Given the description of an element on the screen output the (x, y) to click on. 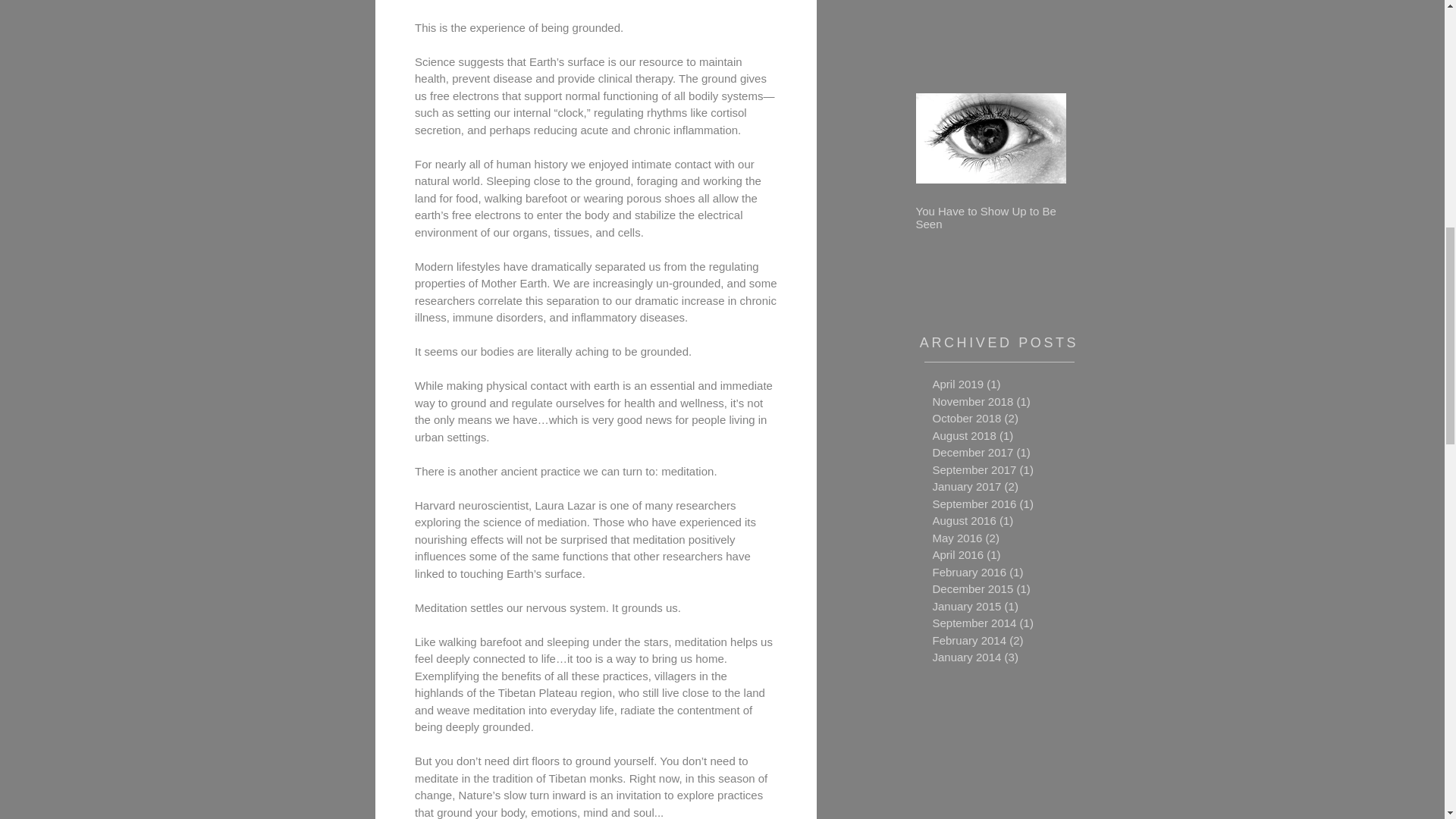
You Have to Show Up to Be Seen (990, 217)
